Given the description of an element on the screen output the (x, y) to click on. 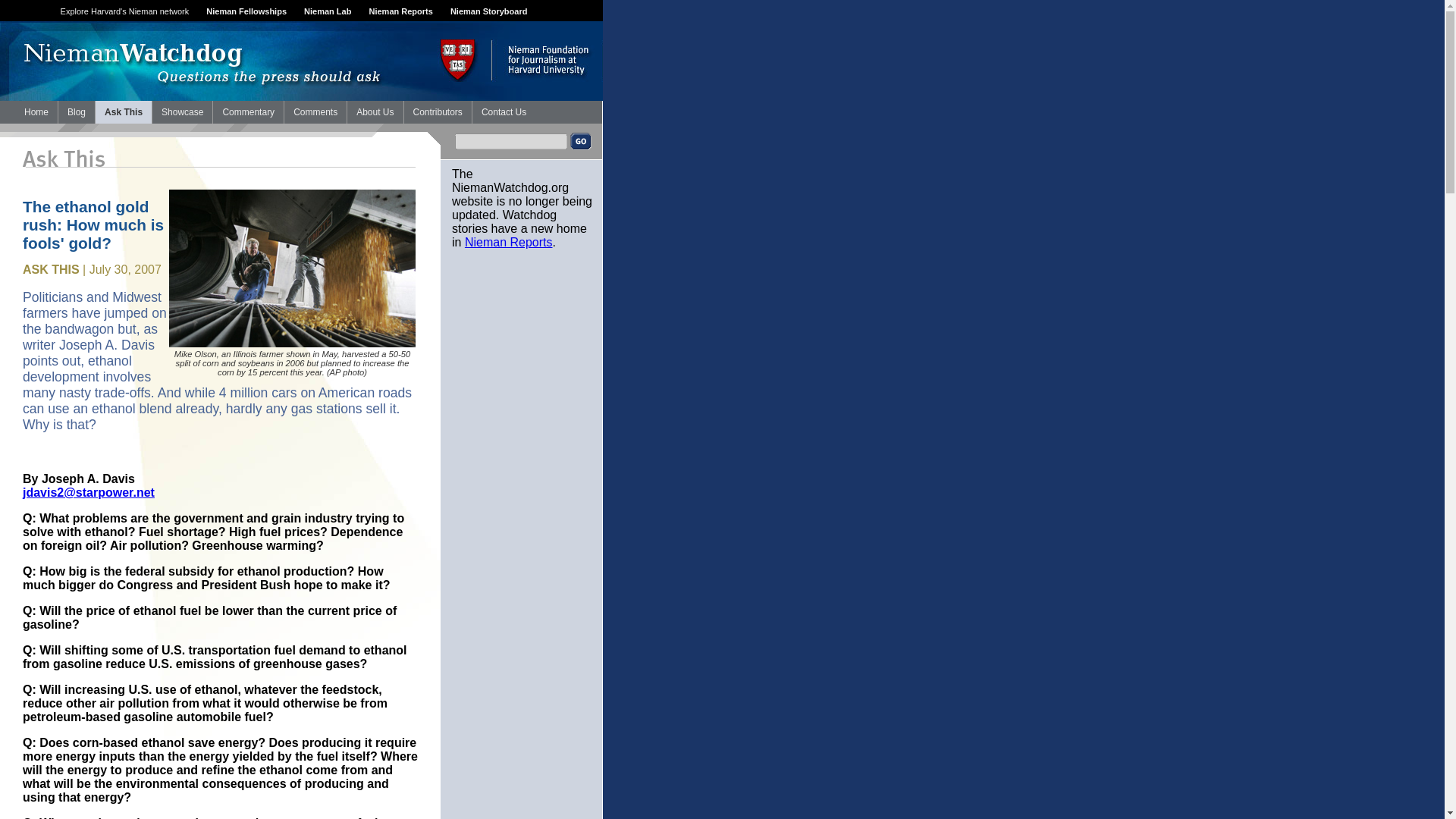
Contributors (436, 112)
Commentary (247, 112)
Comments (314, 112)
Showcase (182, 112)
About Us (375, 112)
Nieman Reports (508, 241)
Contact Us (503, 112)
Ask This (123, 112)
Home (36, 112)
Explore Harvard's Nieman network (125, 10)
Nieman Lab (327, 10)
Blog (76, 112)
Nieman Reports (400, 10)
Nieman Storyboard (488, 10)
Nieman Fellowships (246, 10)
